Given the description of an element on the screen output the (x, y) to click on. 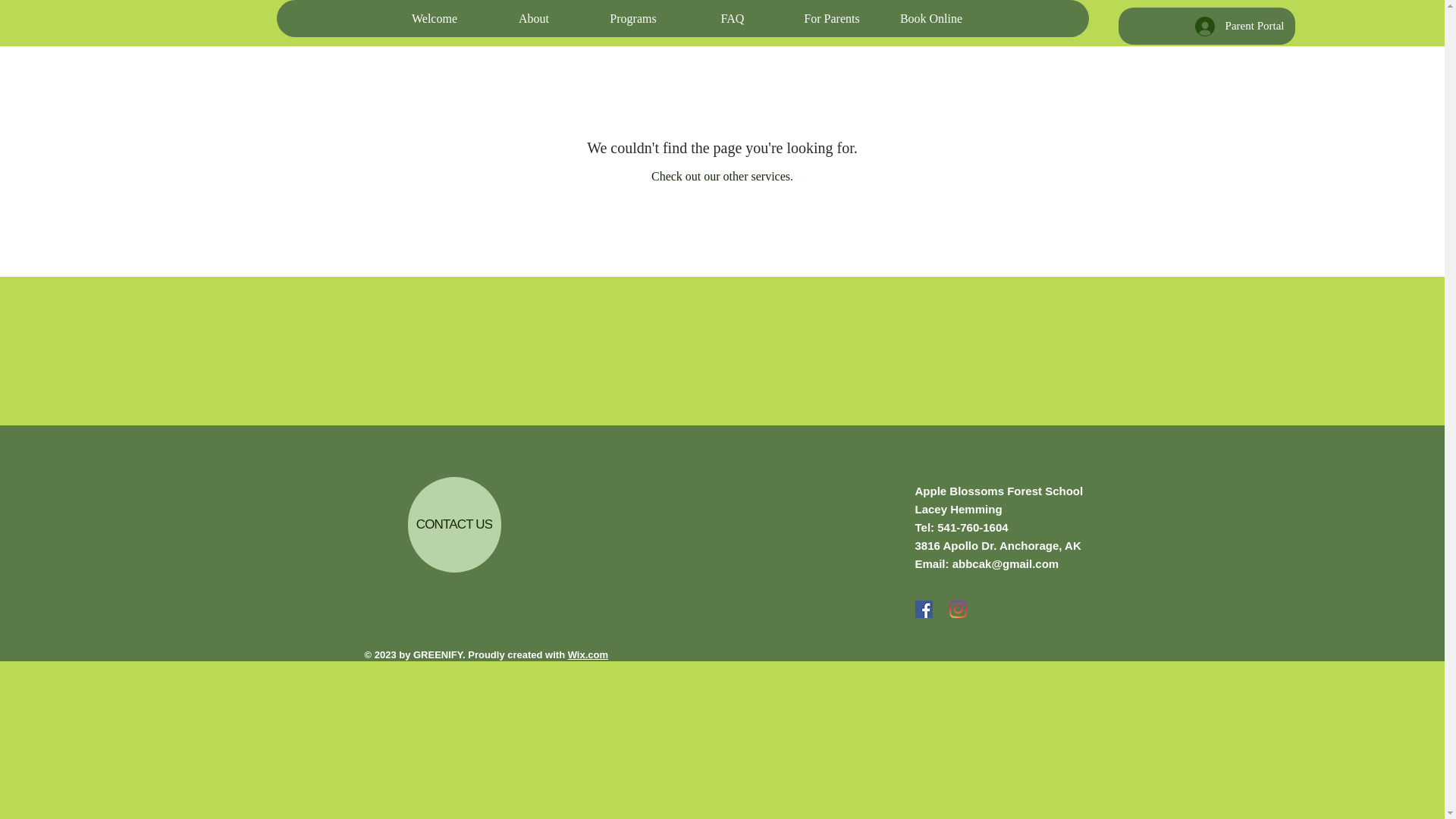
For Parents (830, 18)
About (533, 18)
Book Online (929, 18)
Wix.com (587, 654)
Parent Portal (1240, 26)
CONTACT US (453, 524)
Welcome (433, 18)
FAQ (731, 18)
Programs (632, 18)
